Given the description of an element on the screen output the (x, y) to click on. 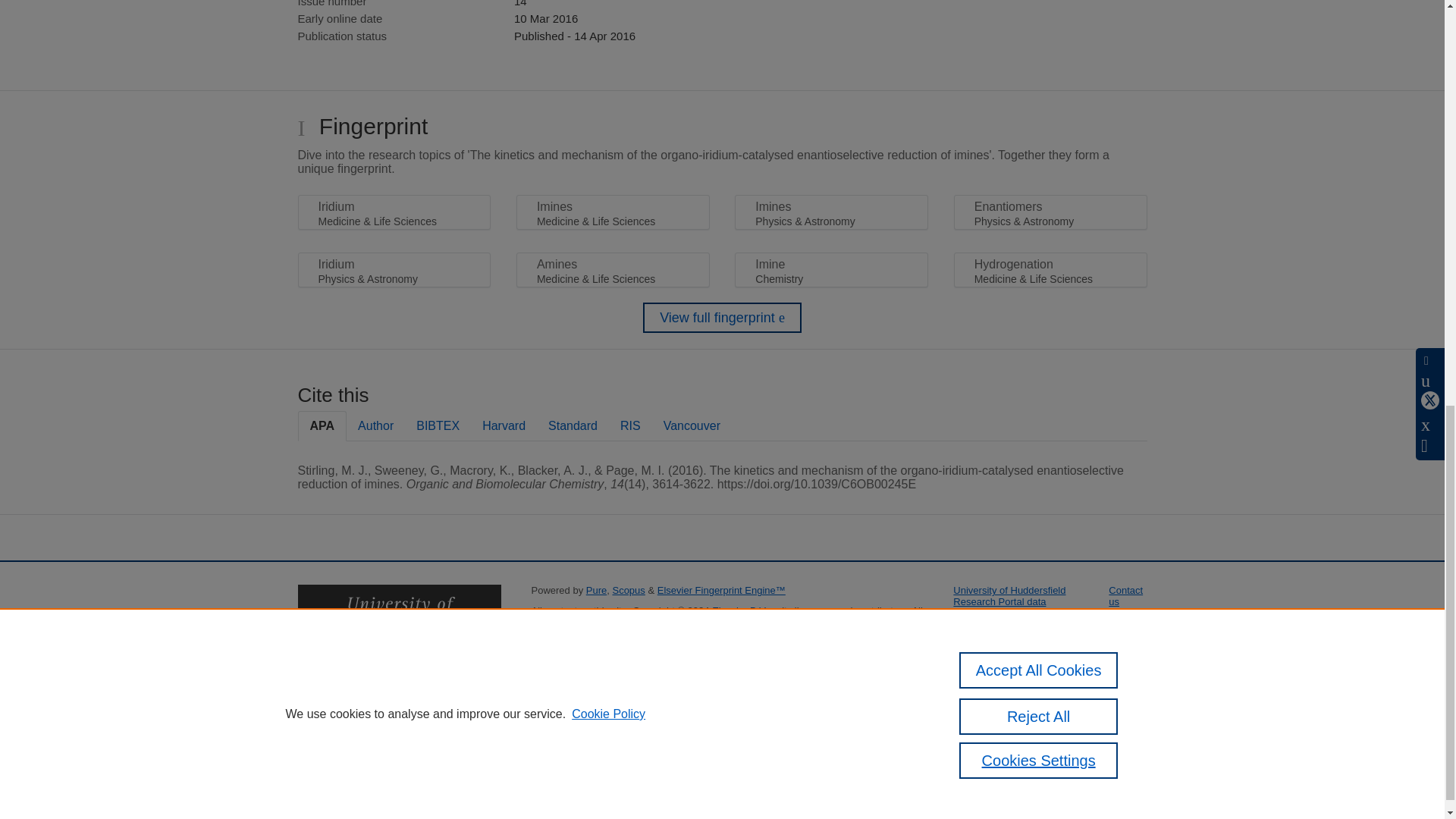
View full fingerprint (722, 317)
Scopus (628, 590)
Pure (596, 590)
